Given the description of an element on the screen output the (x, y) to click on. 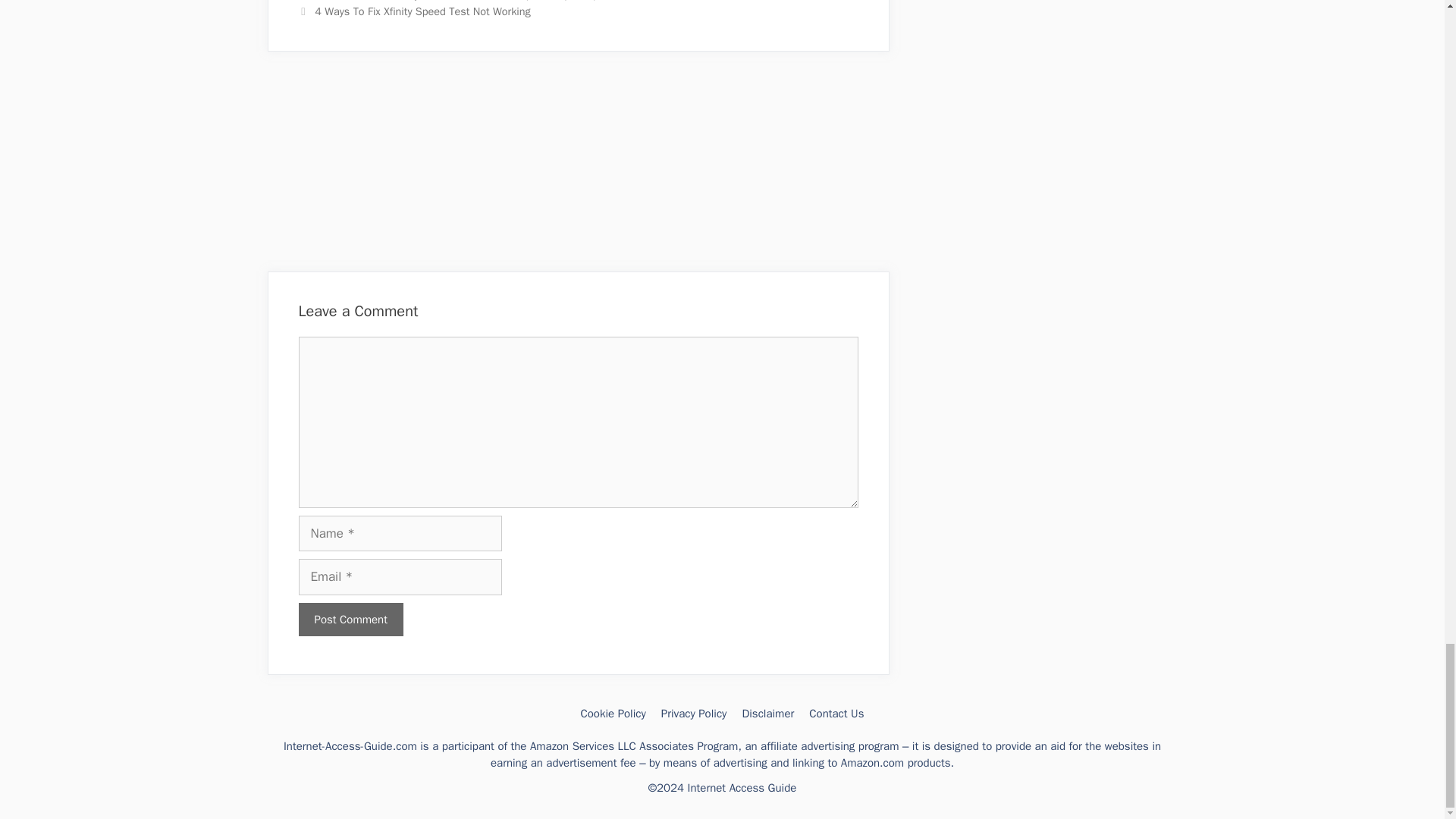
Post Comment (350, 619)
Next (414, 11)
